Given the description of an element on the screen output the (x, y) to click on. 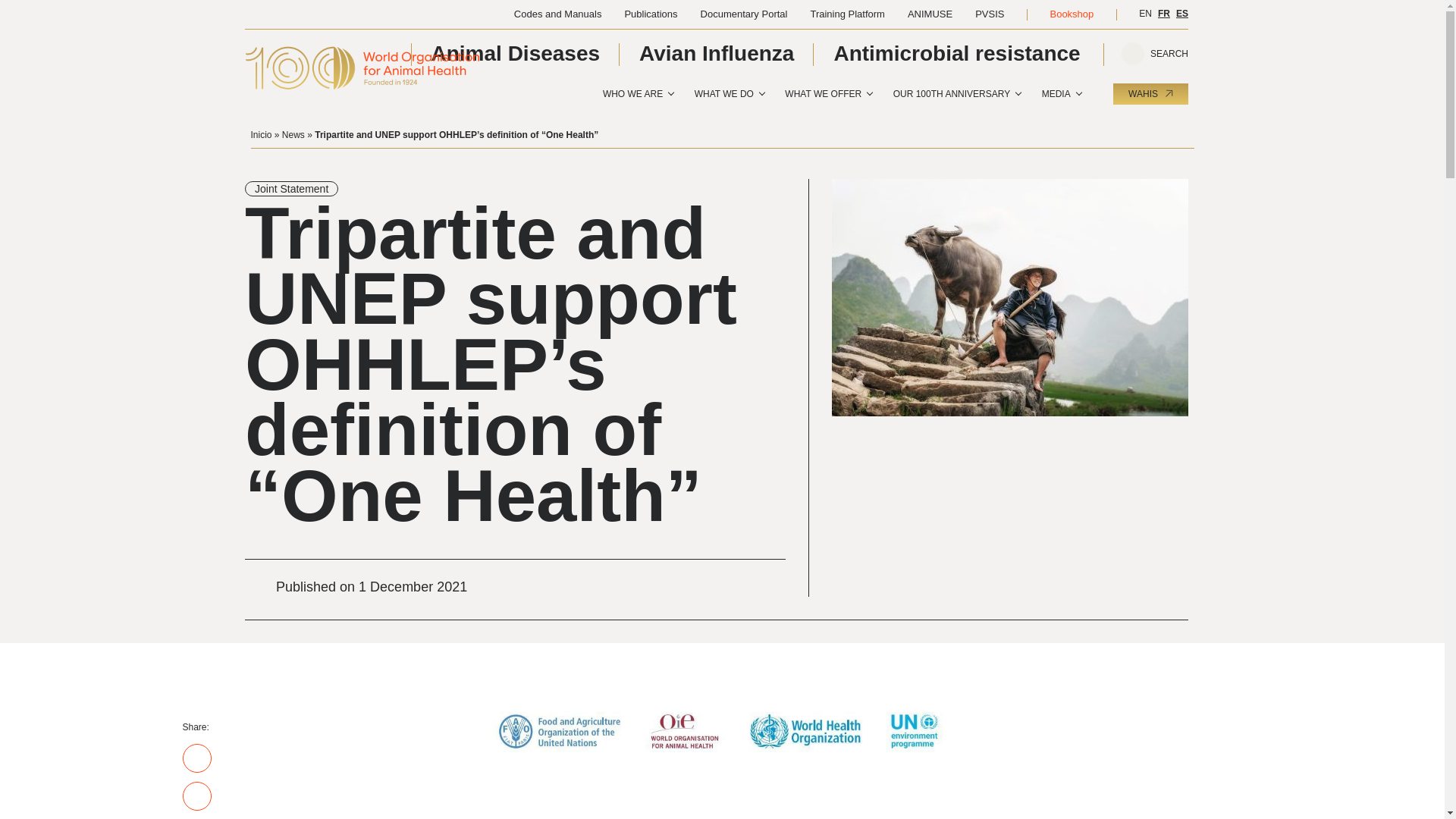
Share on Facebook (196, 758)
Codes and Manuals (557, 13)
Antimicrobial resistance (956, 53)
Publications (650, 13)
Toggle submenu (670, 92)
ES (1182, 13)
SEARCH (1156, 54)
Avian Influenza (716, 53)
Documentary Portal (743, 13)
Animal Diseases (514, 53)
